Given the description of an element on the screen output the (x, y) to click on. 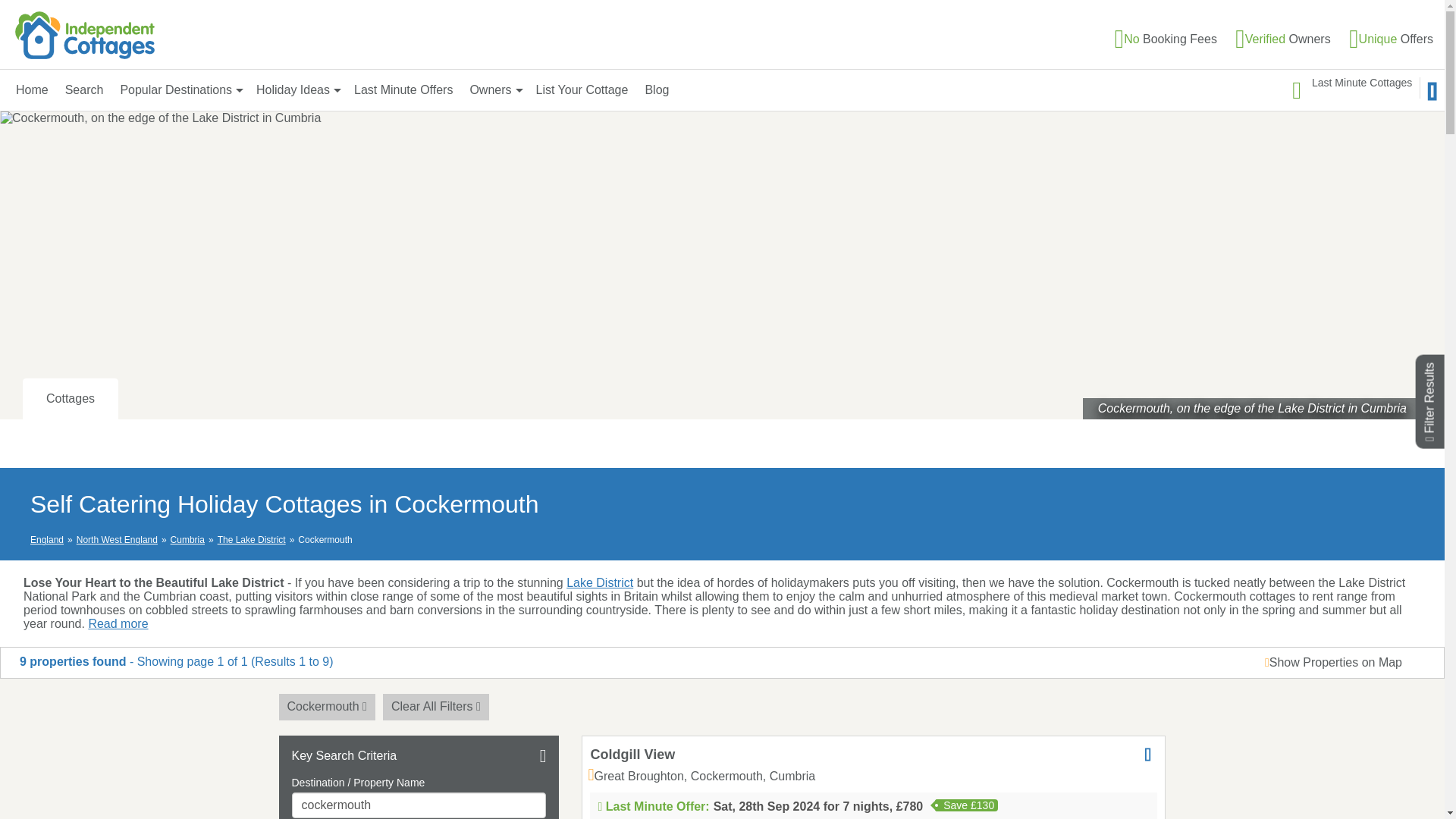
Home (32, 89)
Holiday Ideas (296, 89)
Add to favourites (1147, 754)
Coldgill View, Great Broughton, Cockermouth, Cumbria (632, 754)
Clear All Filters (435, 706)
Remove Cockermouth (327, 706)
View location (701, 775)
Popular Destinations (179, 89)
Search (84, 89)
View offer (873, 809)
